Given the description of an element on the screen output the (x, y) to click on. 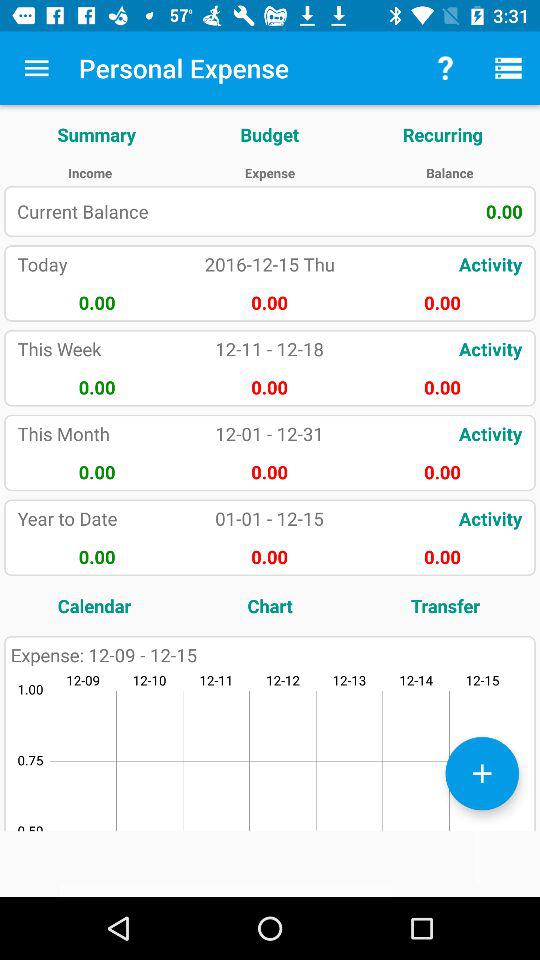
launch the item next to summary (269, 134)
